Given the description of an element on the screen output the (x, y) to click on. 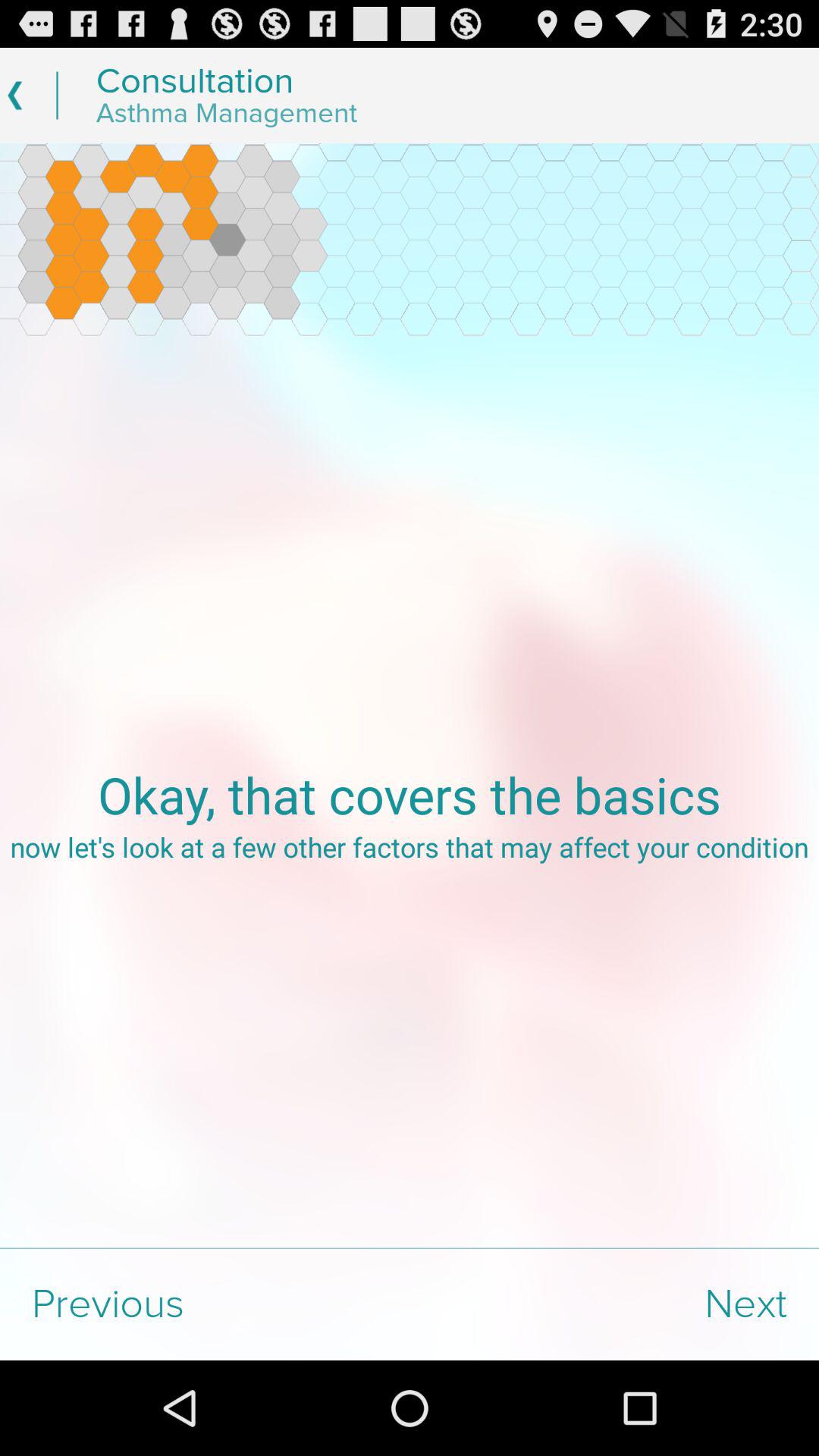
turn off the previous app (204, 1304)
